Given the description of an element on the screen output the (x, y) to click on. 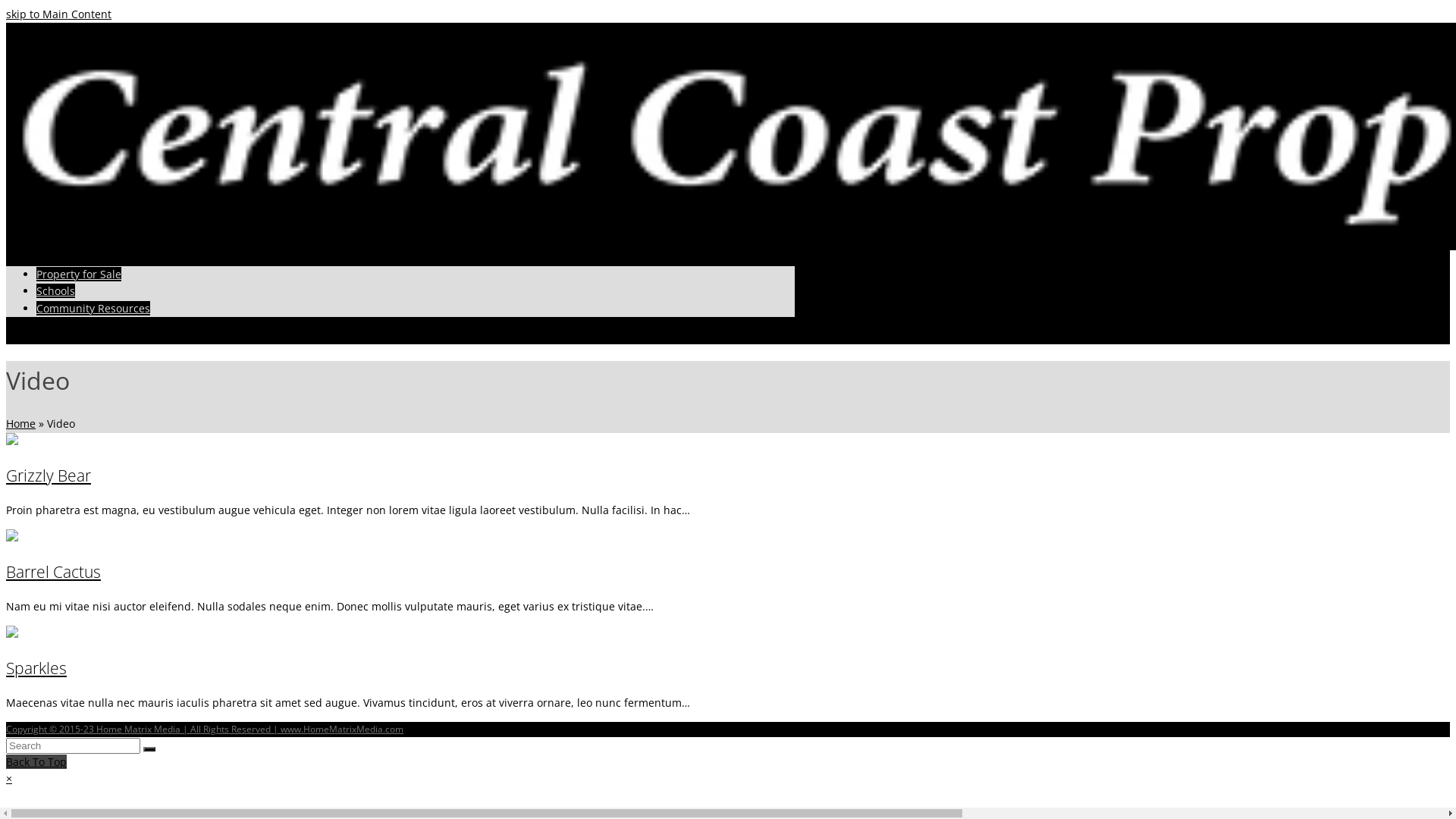
Property for Sale Element type: text (78, 273)
Sparkles Element type: text (36, 667)
Barrel Cactus Element type: hover (12, 537)
Back To Top Element type: text (36, 761)
skip to Main Content Element type: text (58, 13)
Grizzly Bear Element type: text (48, 475)
Community Resources Element type: text (93, 308)
Grizzly Bear Element type: hover (12, 440)
Schools Element type: text (55, 290)
Sparkles Element type: hover (12, 633)
Home Element type: text (20, 423)
Open Mobile Menu Element type: text (55, 335)
Barrel Cactus Element type: text (53, 571)
